Given the description of an element on the screen output the (x, y) to click on. 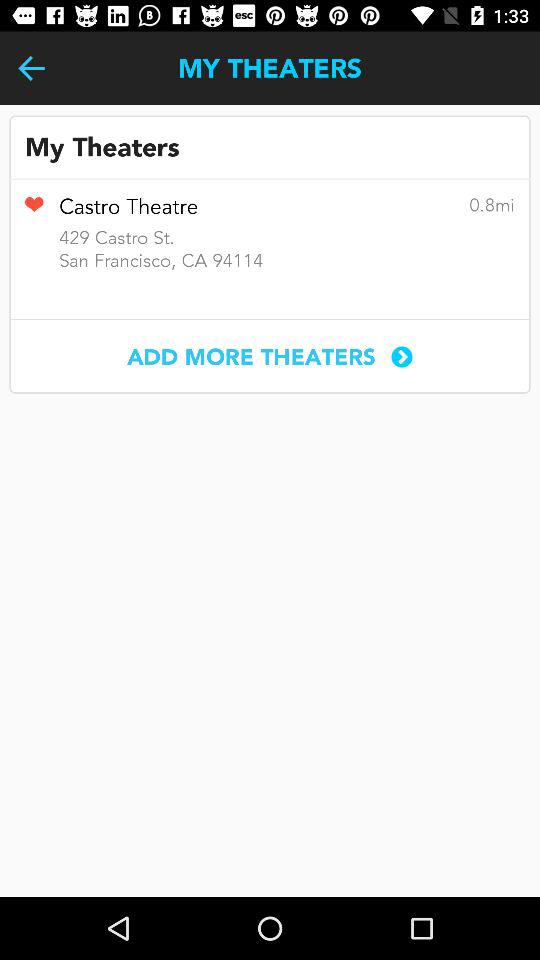
go back (31, 67)
